Given the description of an element on the screen output the (x, y) to click on. 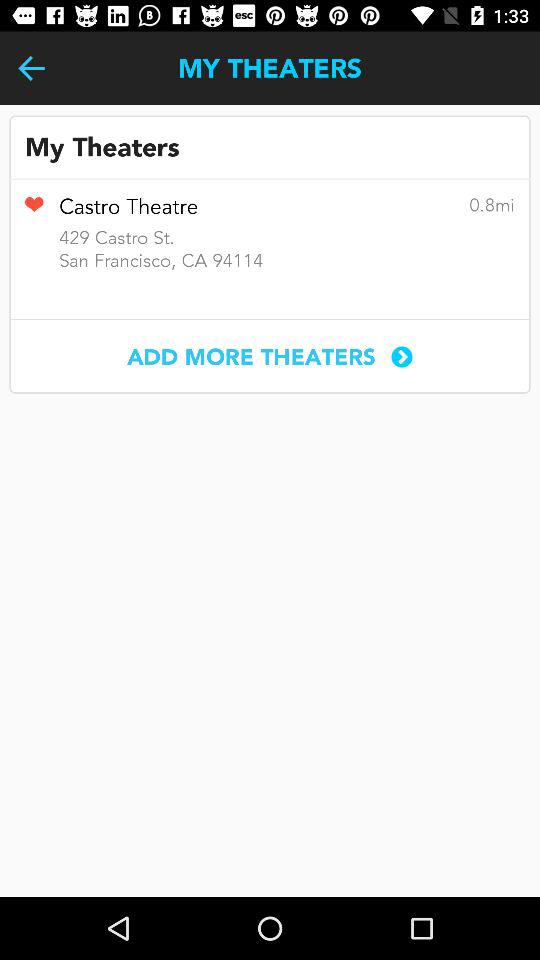
go back (31, 67)
